Given the description of an element on the screen output the (x, y) to click on. 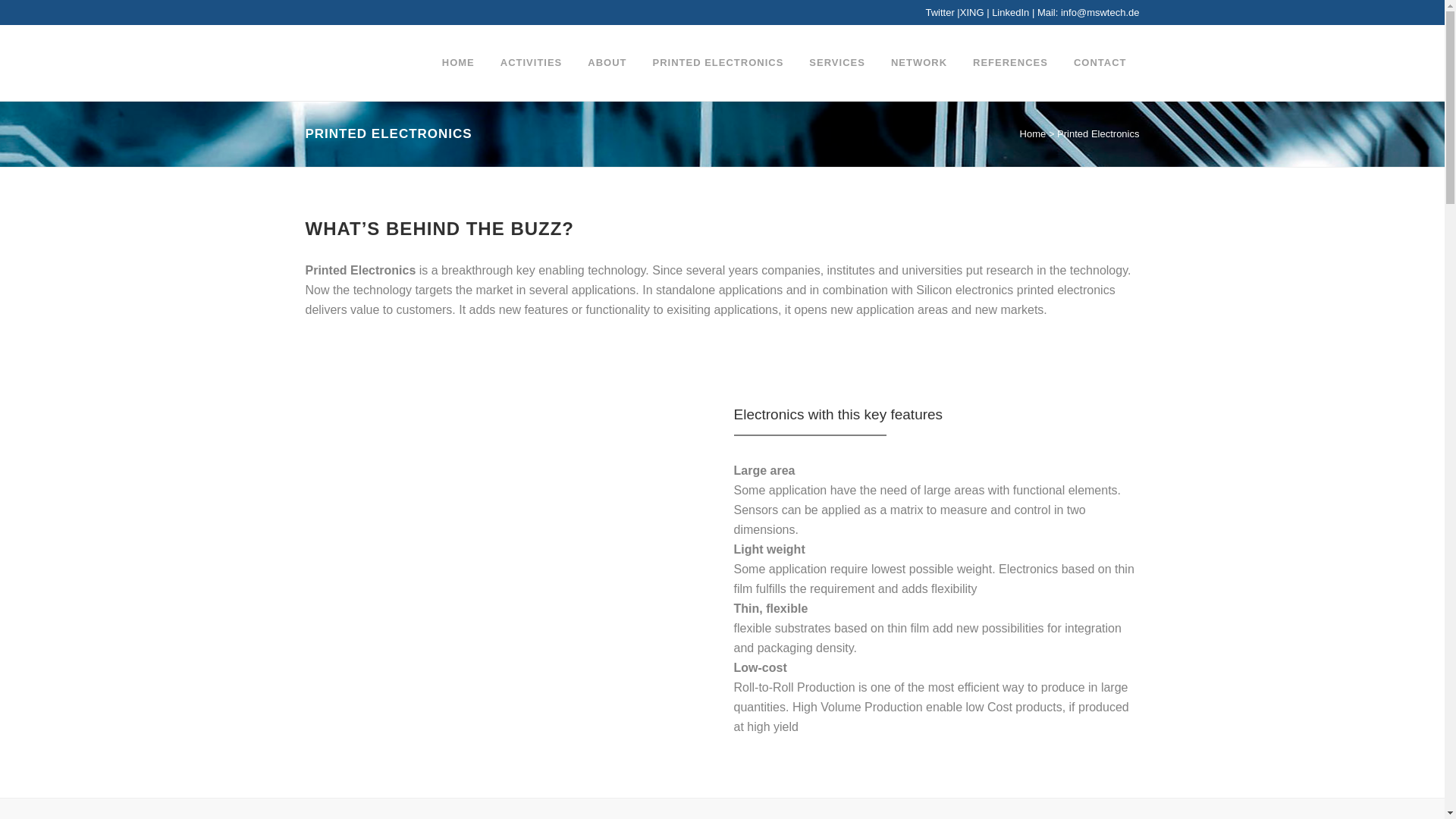
Contact (770, 798)
XING (973, 12)
PRINTED ELECTRONICS (718, 62)
CONTACT (1100, 62)
Home (1033, 133)
ACTIVITIES (531, 62)
LOPEC 2023: MSWtech at Booth B0.109 (509, 572)
Legal information (713, 798)
REFERENCES (1010, 62)
NETWORK (918, 62)
LOPEC 2021 Online: General chair at Messe Munich (509, 702)
Data Privacy (819, 798)
LOPEC 2022: MSWtech at Booth B0.113 (509, 637)
2022-June: Talk for AIMCAL at Aimplas, Valencia, ES (509, 605)
